Given the description of an element on the screen output the (x, y) to click on. 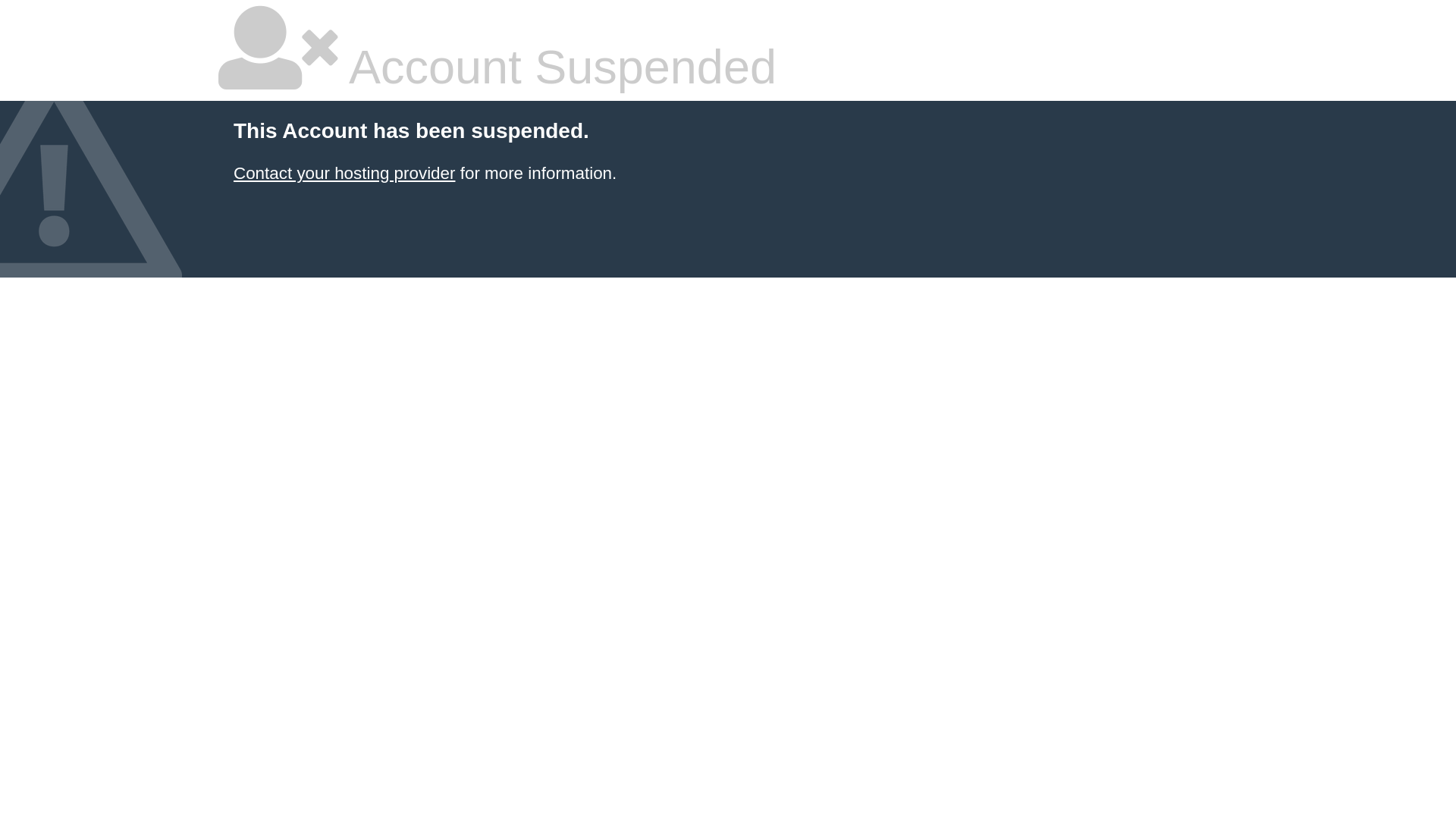
Contact your hosting provider Element type: text (344, 172)
